Given the description of an element on the screen output the (x, y) to click on. 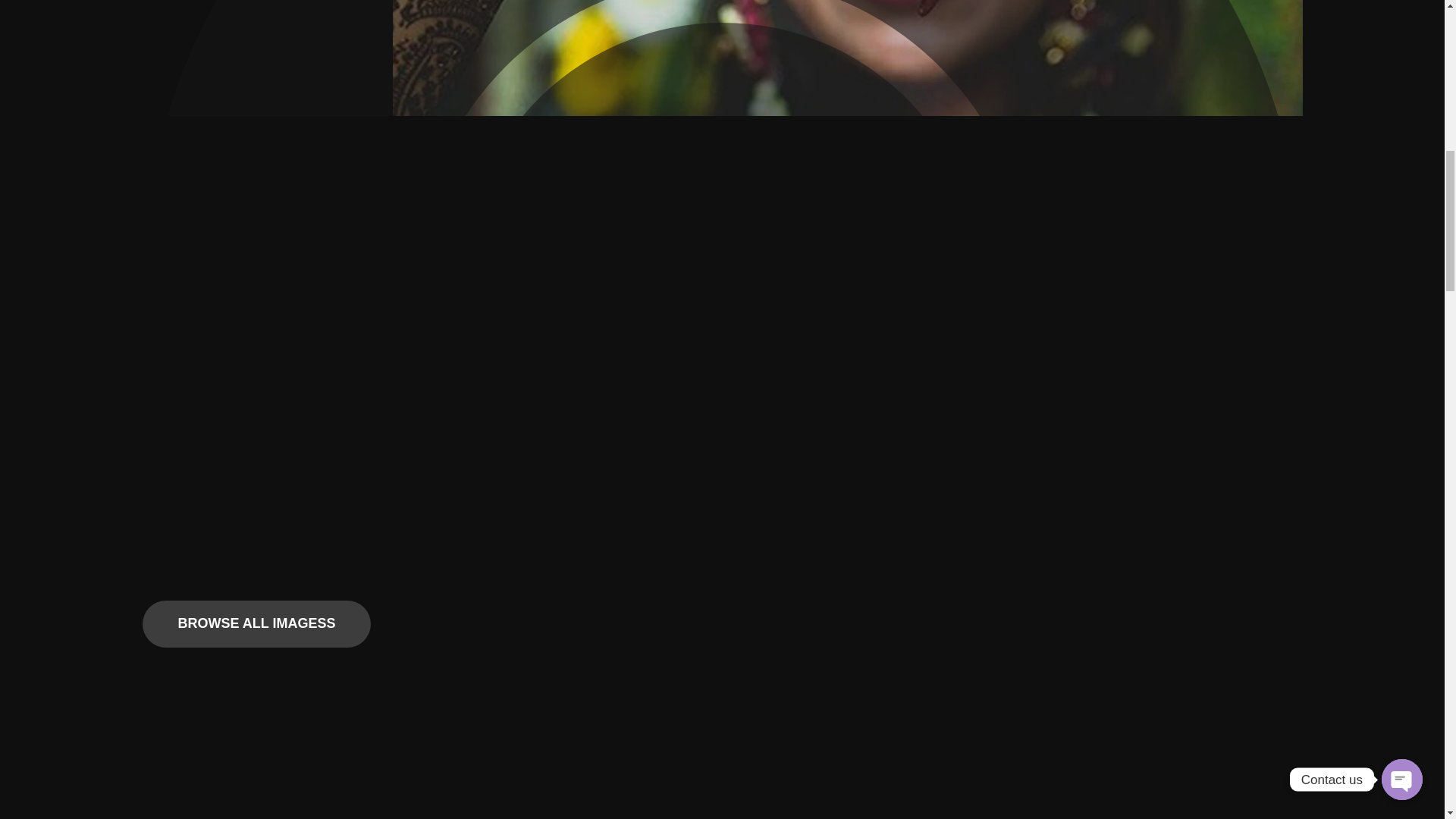
BROWSE ALL IMAGESS (256, 623)
